Given the description of an element on the screen output the (x, y) to click on. 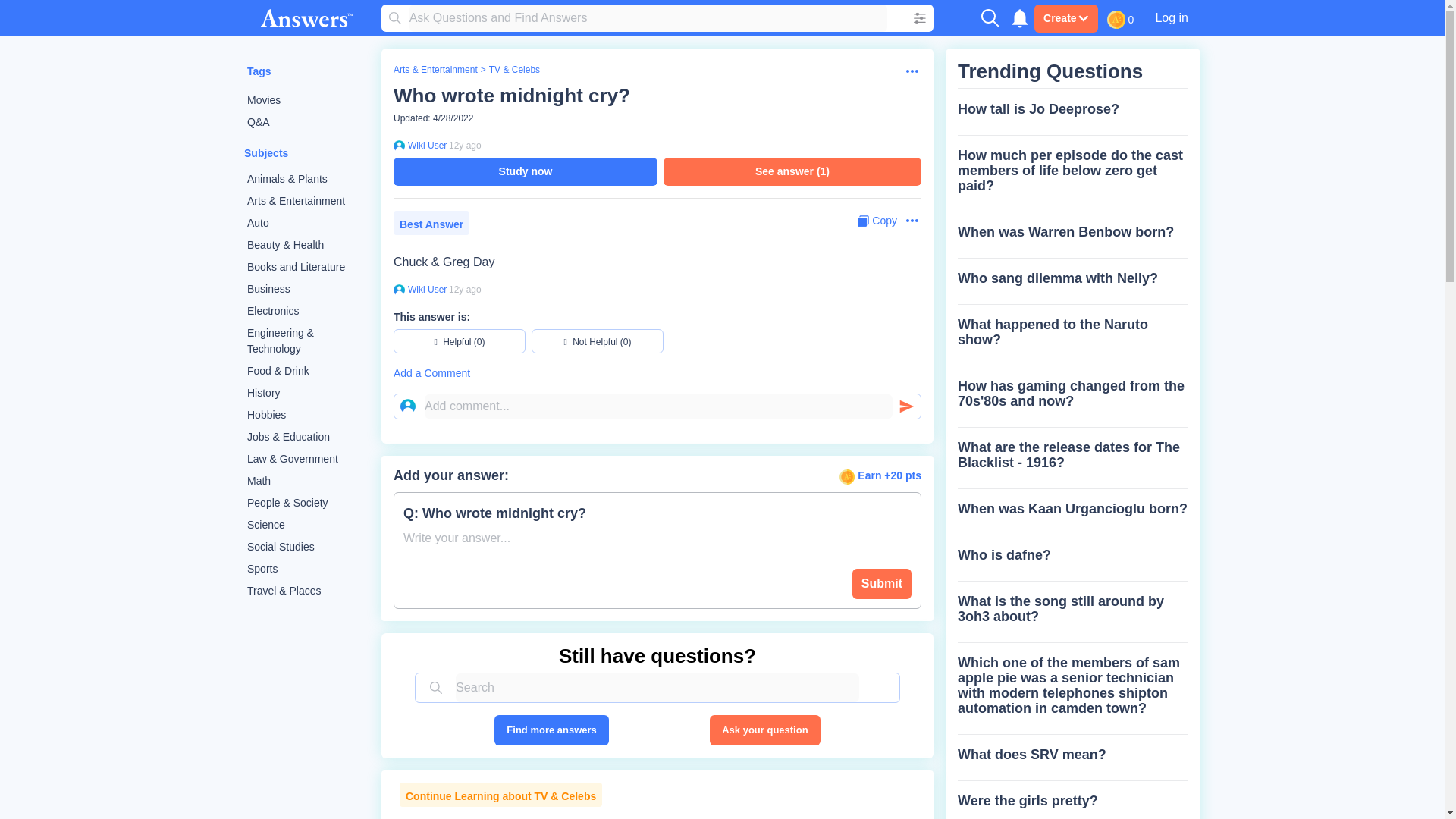
Movies (306, 100)
Log in (1170, 17)
Business (306, 289)
Electronics (306, 311)
Who wrote midnight cry? (511, 95)
Hobbies (306, 414)
Add a Comment (657, 373)
Find more answers (551, 729)
Ask your question (764, 729)
Auto (306, 223)
2011-10-03 02:10:00 (464, 145)
Books and Literature (306, 267)
Science (306, 525)
2011-10-03 02:10:00 (464, 289)
Subjects (266, 152)
